Given the description of an element on the screen output the (x, y) to click on. 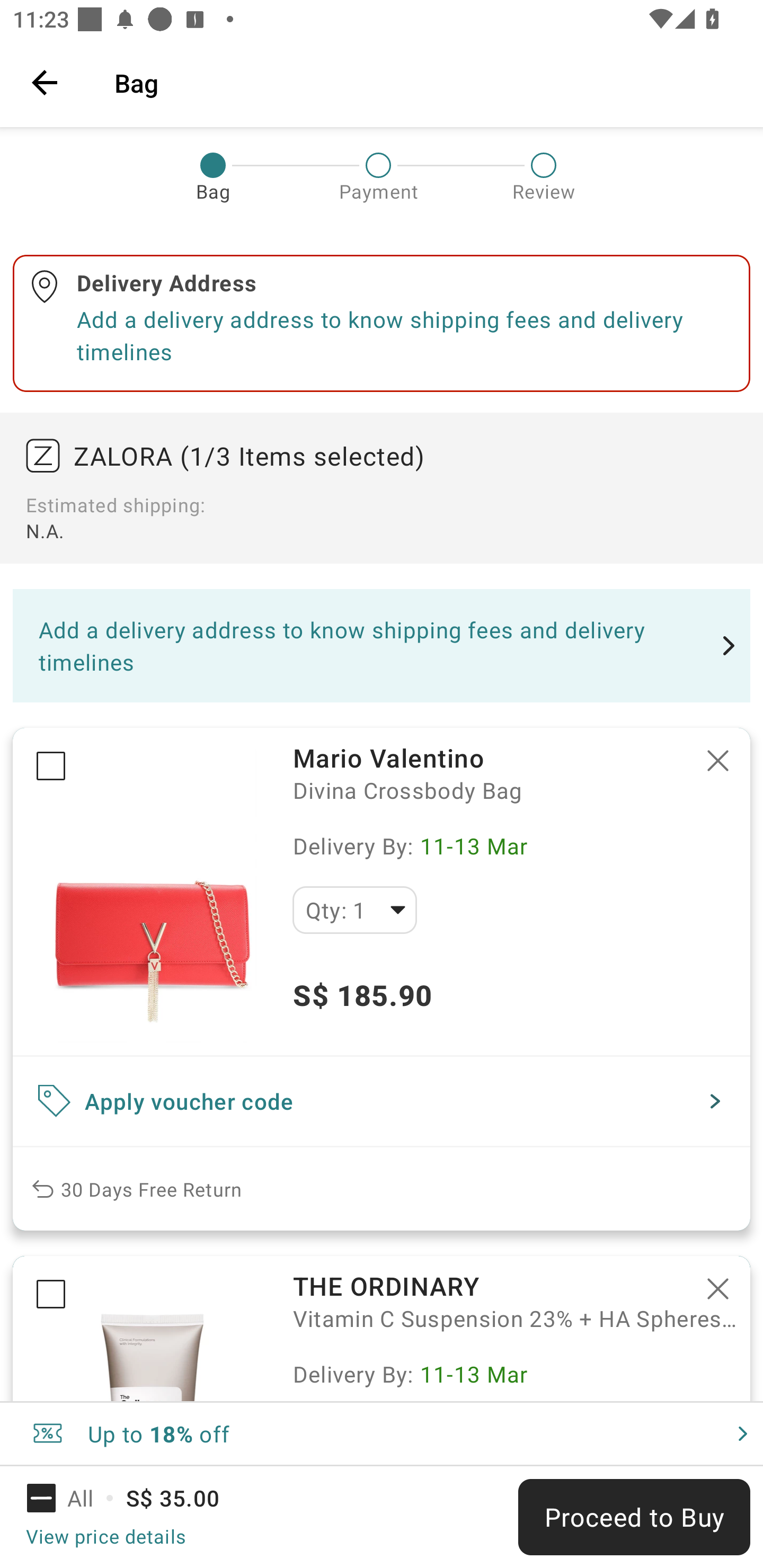
Navigate up (44, 82)
Bag (426, 82)
Qty: 1 (354, 909)
Apply voucher code (381, 1101)
Up to 18% off (381, 1433)
All (72, 1497)
Proceed to Buy (634, 1516)
View price details (105, 1535)
